Given the description of an element on the screen output the (x, y) to click on. 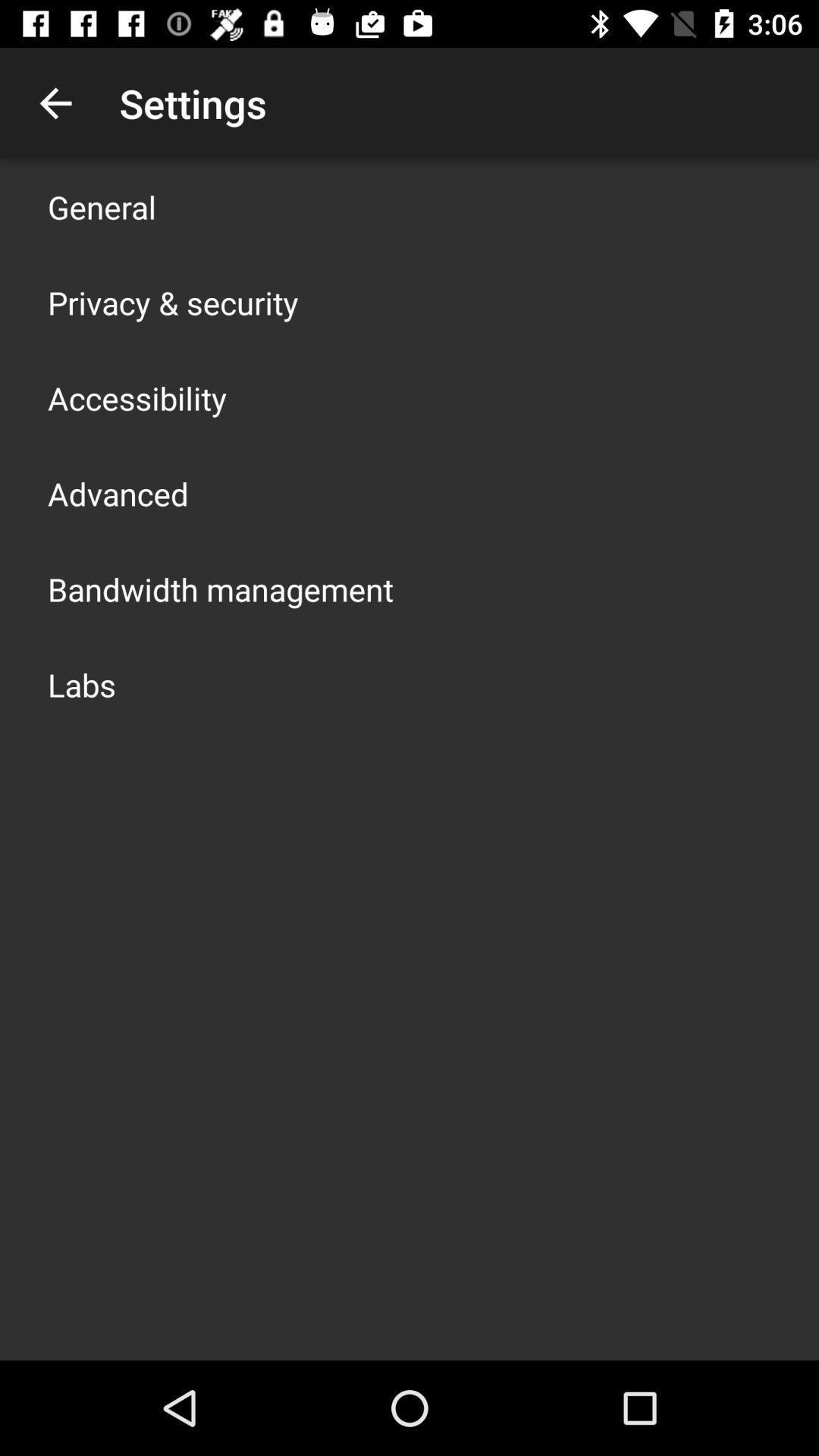
click icon below the bandwidth management icon (81, 684)
